Given the description of an element on the screen output the (x, y) to click on. 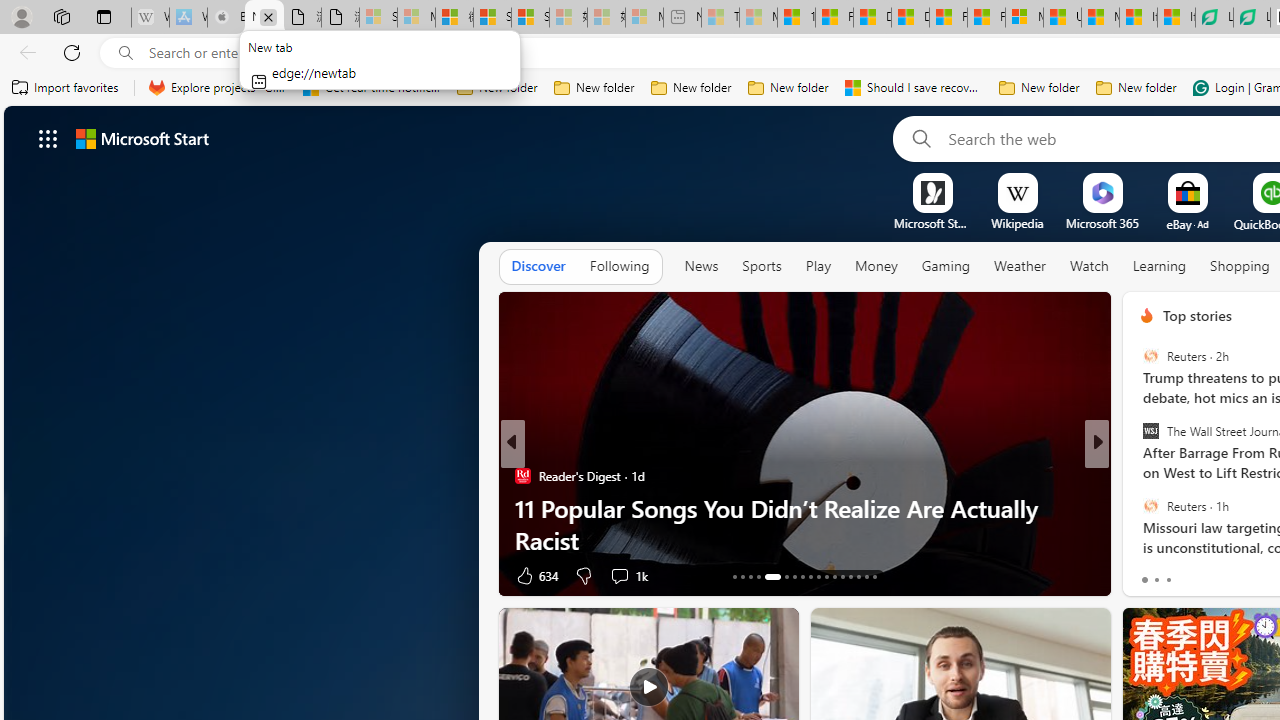
Reuters (1149, 505)
View comments 86 Comment (1234, 575)
Food and Drink - MSN (833, 17)
CNBC (1138, 475)
